Given the description of an element on the screen output the (x, y) to click on. 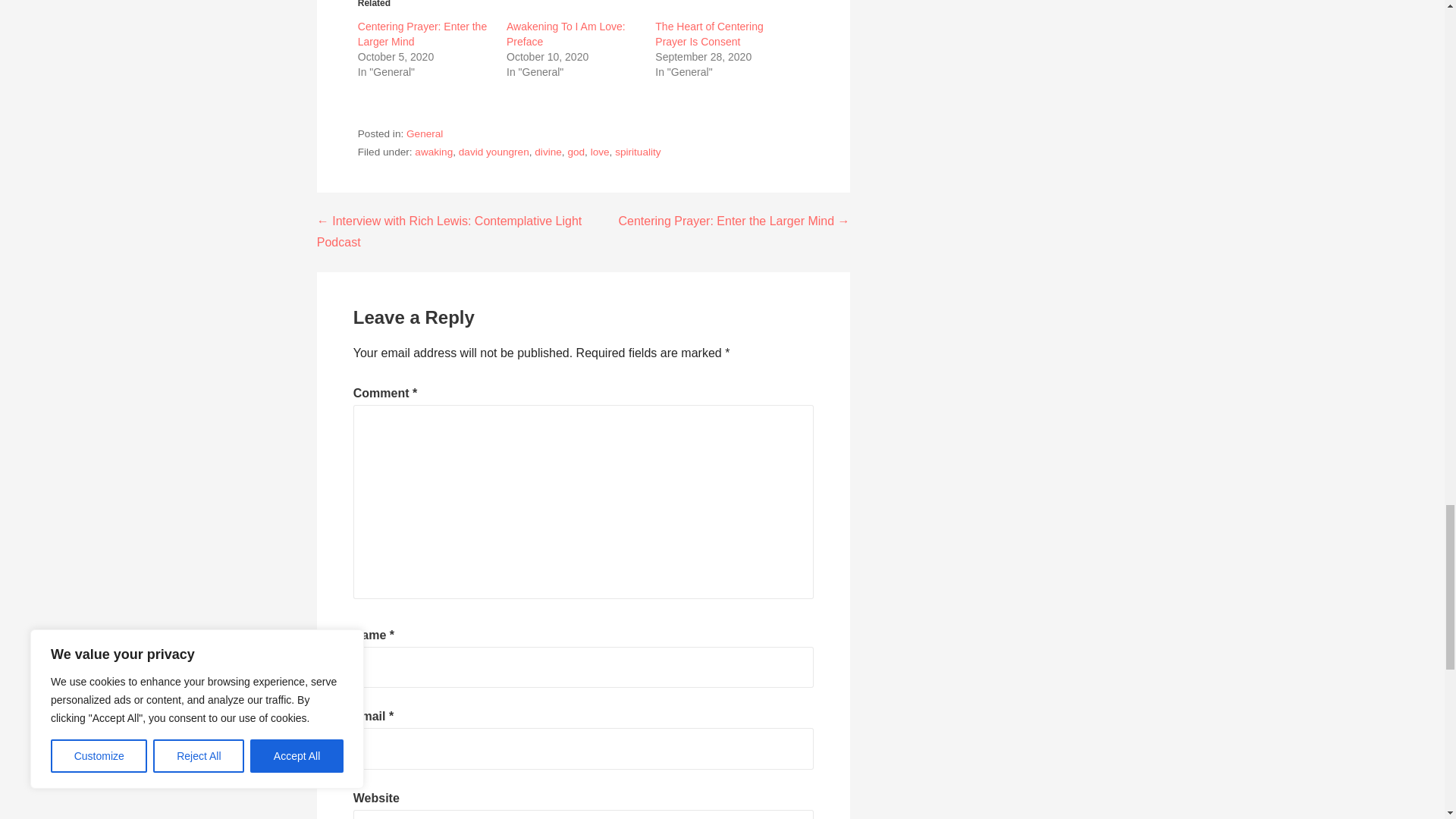
The Heart of Centering Prayer Is Consent (708, 33)
Awakening To I Am Love: Preface (566, 33)
Centering Prayer: Enter the Larger Mind (422, 33)
Awakening To I Am Love: Preface (566, 33)
Centering Prayer: Enter the Larger Mind (422, 33)
